Given the description of an element on the screen output the (x, y) to click on. 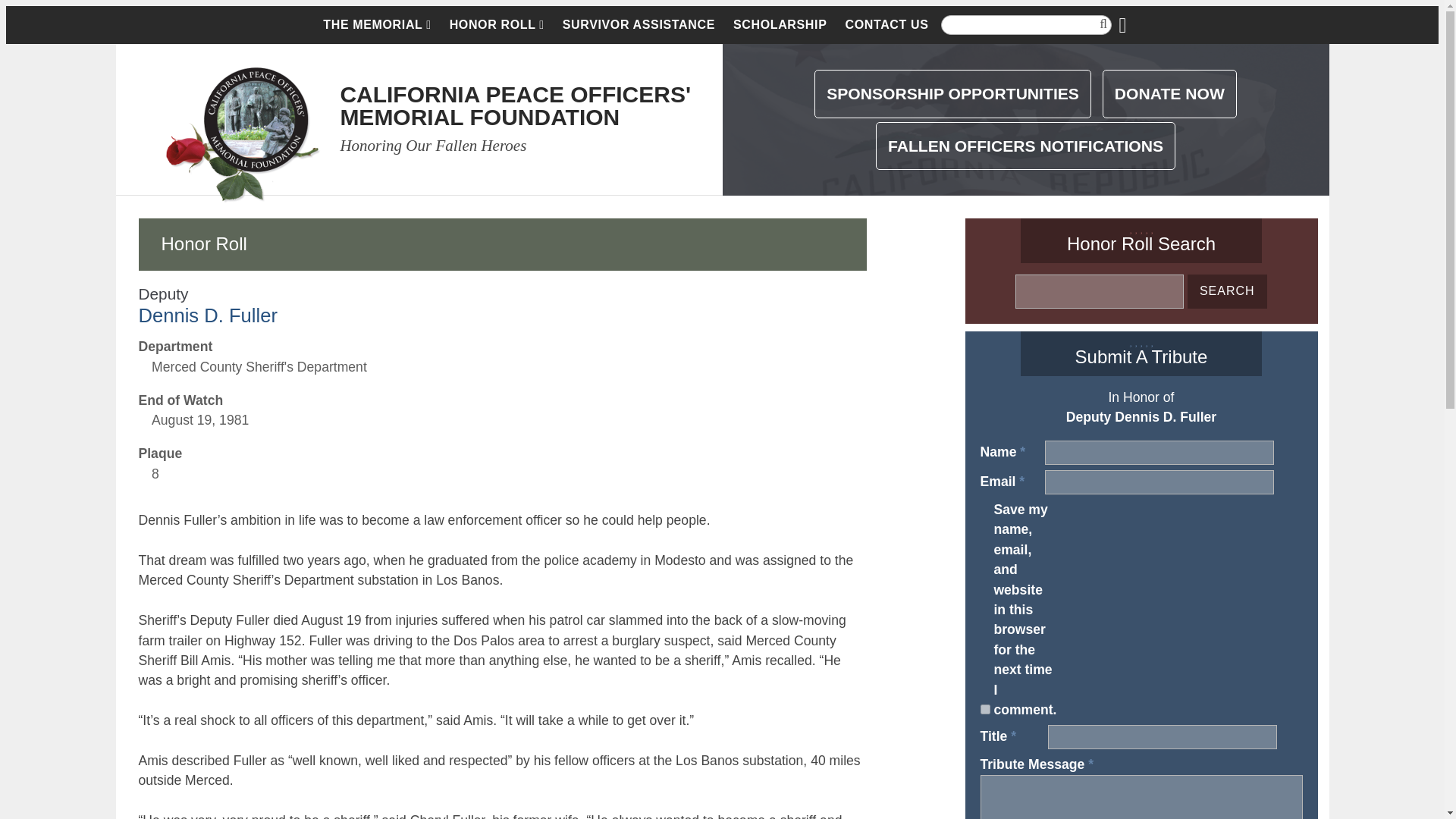
DONATE NOW (1169, 93)
yes (984, 709)
Search (514, 104)
SPONSORSHIP OPPORTUNITIES (1227, 291)
HONOR ROLL (951, 93)
CONTACT US (497, 24)
Skip to content (886, 24)
Search (638, 24)
THE MEMORIAL (1227, 291)
SCHOLARSHIP (376, 24)
FALLEN OFFICERS NOTIFICATIONS (779, 24)
